Given the description of an element on the screen output the (x, y) to click on. 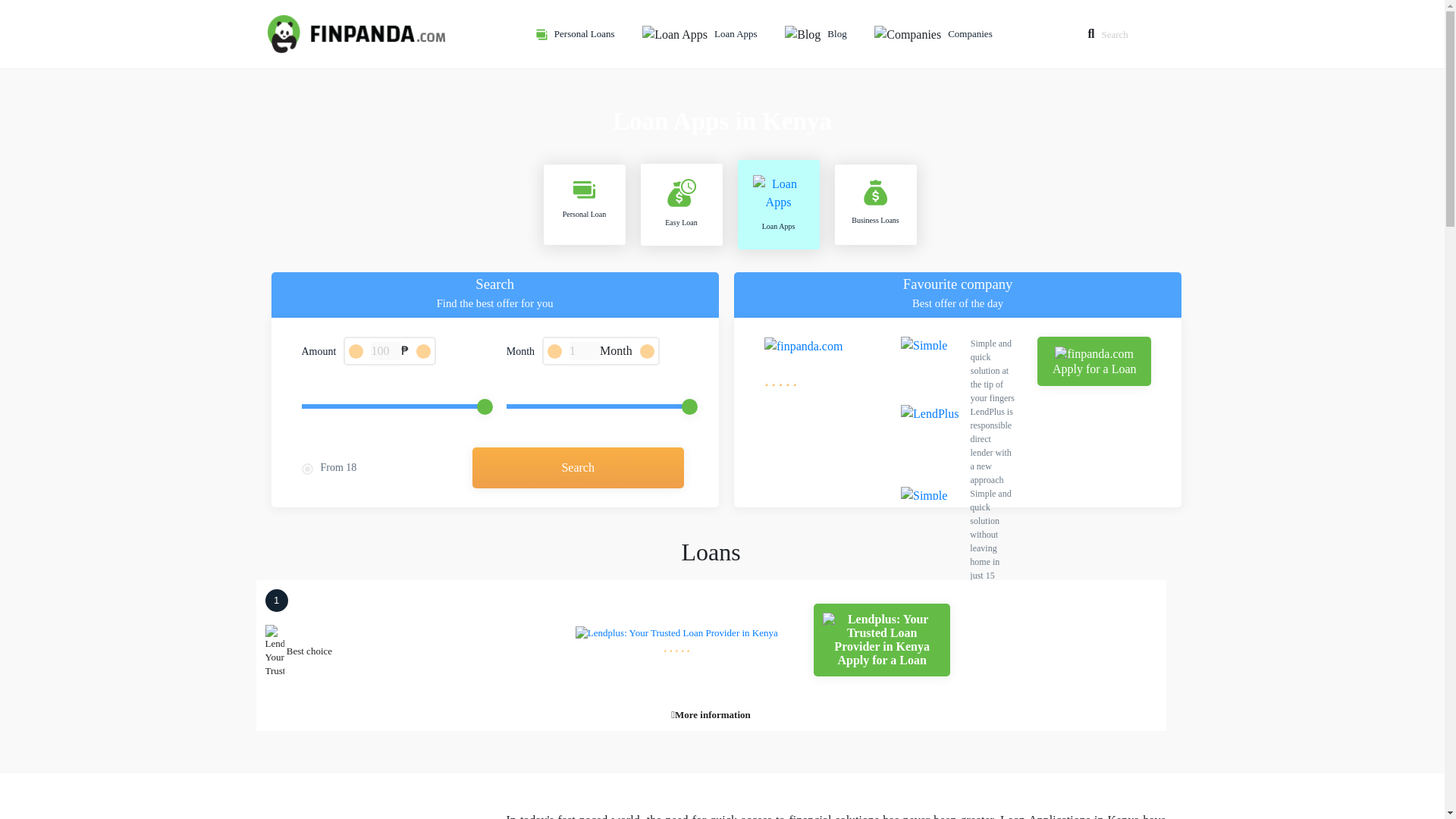
Search (577, 467)
Apply for a Loan (881, 639)
Easy Loan (681, 204)
Business Loans (874, 204)
Loan Apps (777, 204)
Blog (839, 33)
2.5 (392, 406)
Loan Apps (737, 33)
Companies (972, 33)
Personal Loans (587, 33)
